Given the description of an element on the screen output the (x, y) to click on. 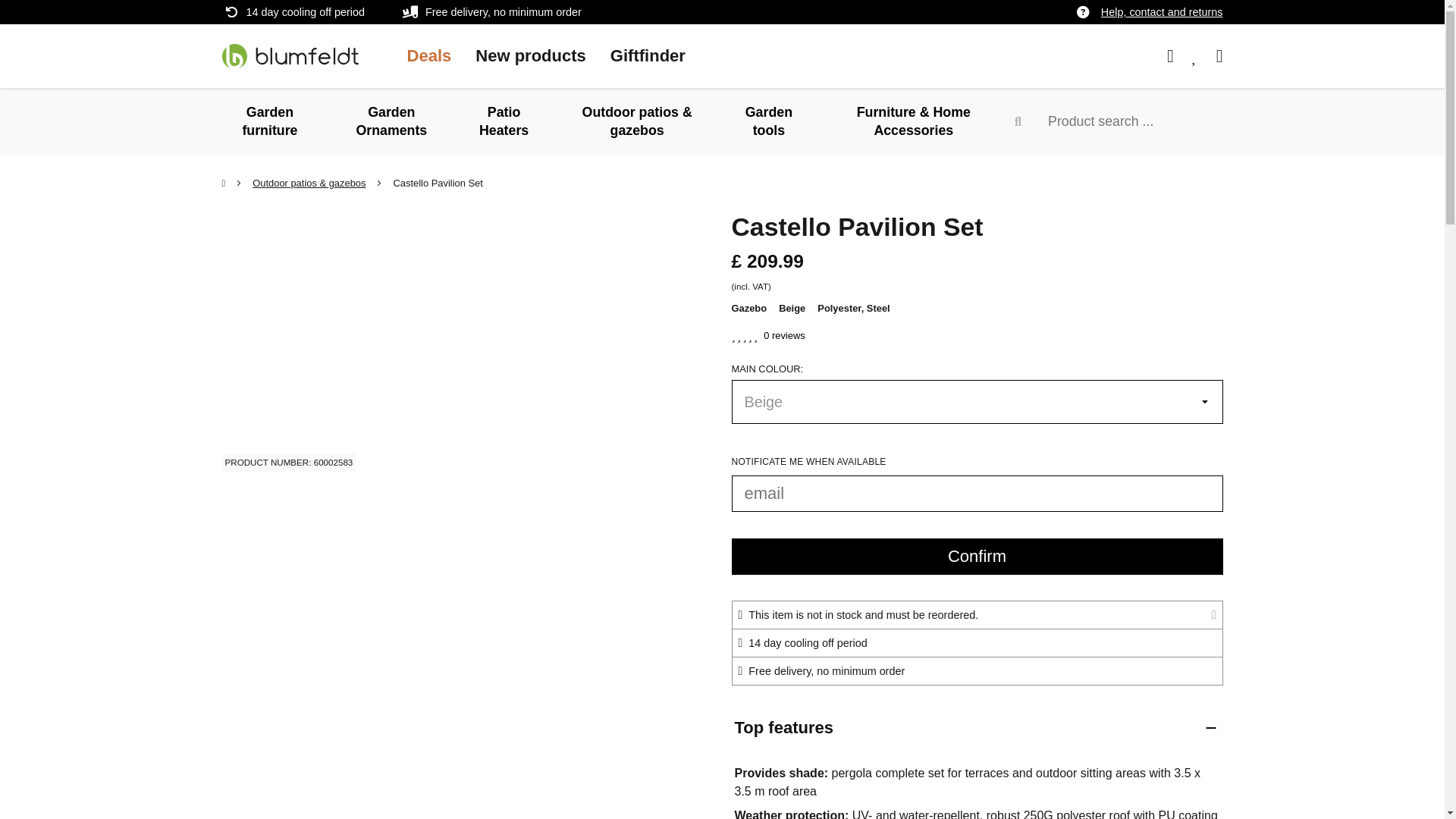
Garden furniture (269, 121)
Confirm (976, 556)
Patio Heaters (503, 121)
Garden Ornaments (391, 121)
Garden furniture (269, 121)
Garden Ornaments (391, 121)
New products (531, 55)
New products (531, 55)
Giftfinder (647, 55)
Deals (428, 55)
